Given the description of an element on the screen output the (x, y) to click on. 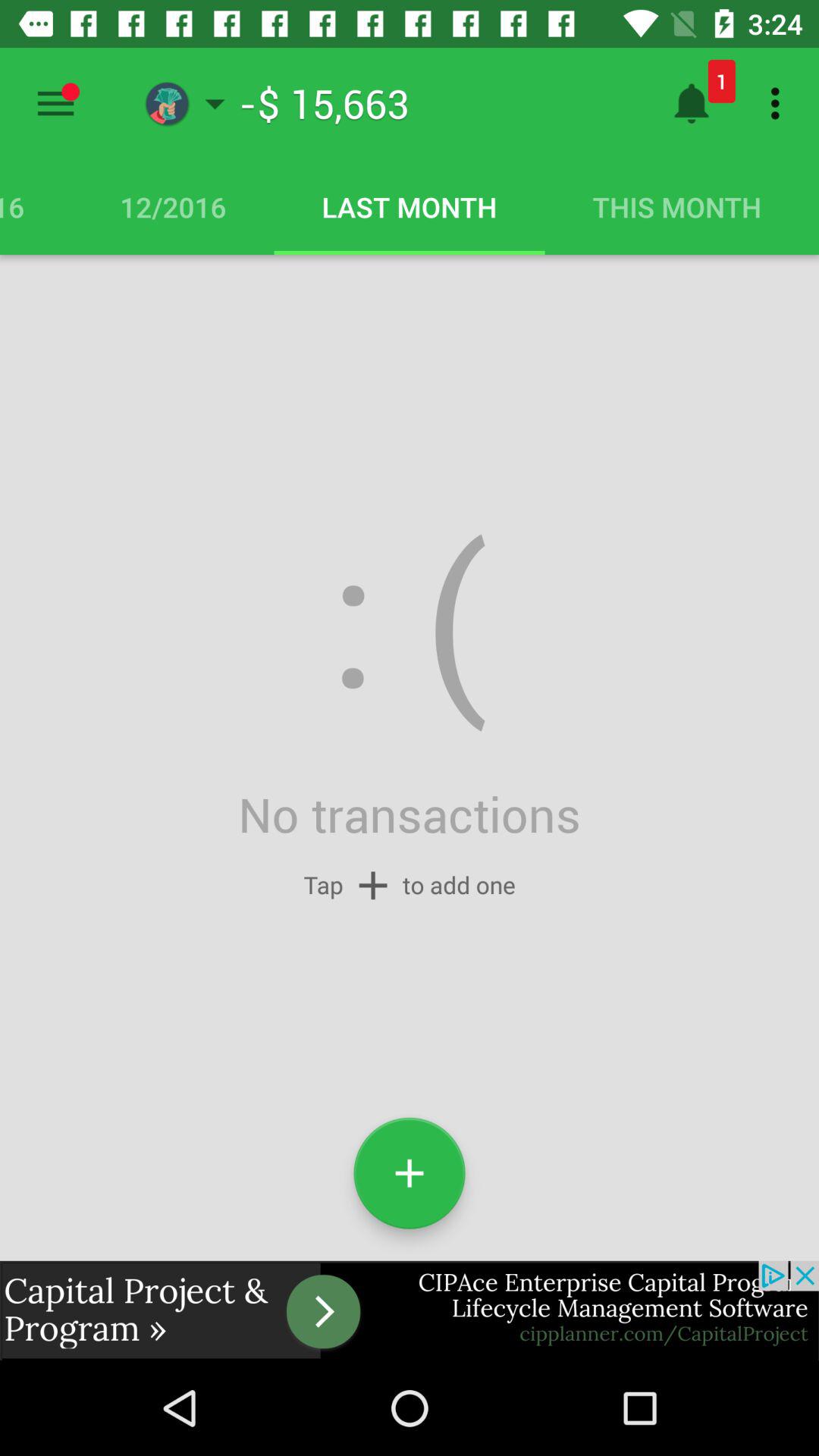
share the article (409, 1310)
